Given the description of an element on the screen output the (x, y) to click on. 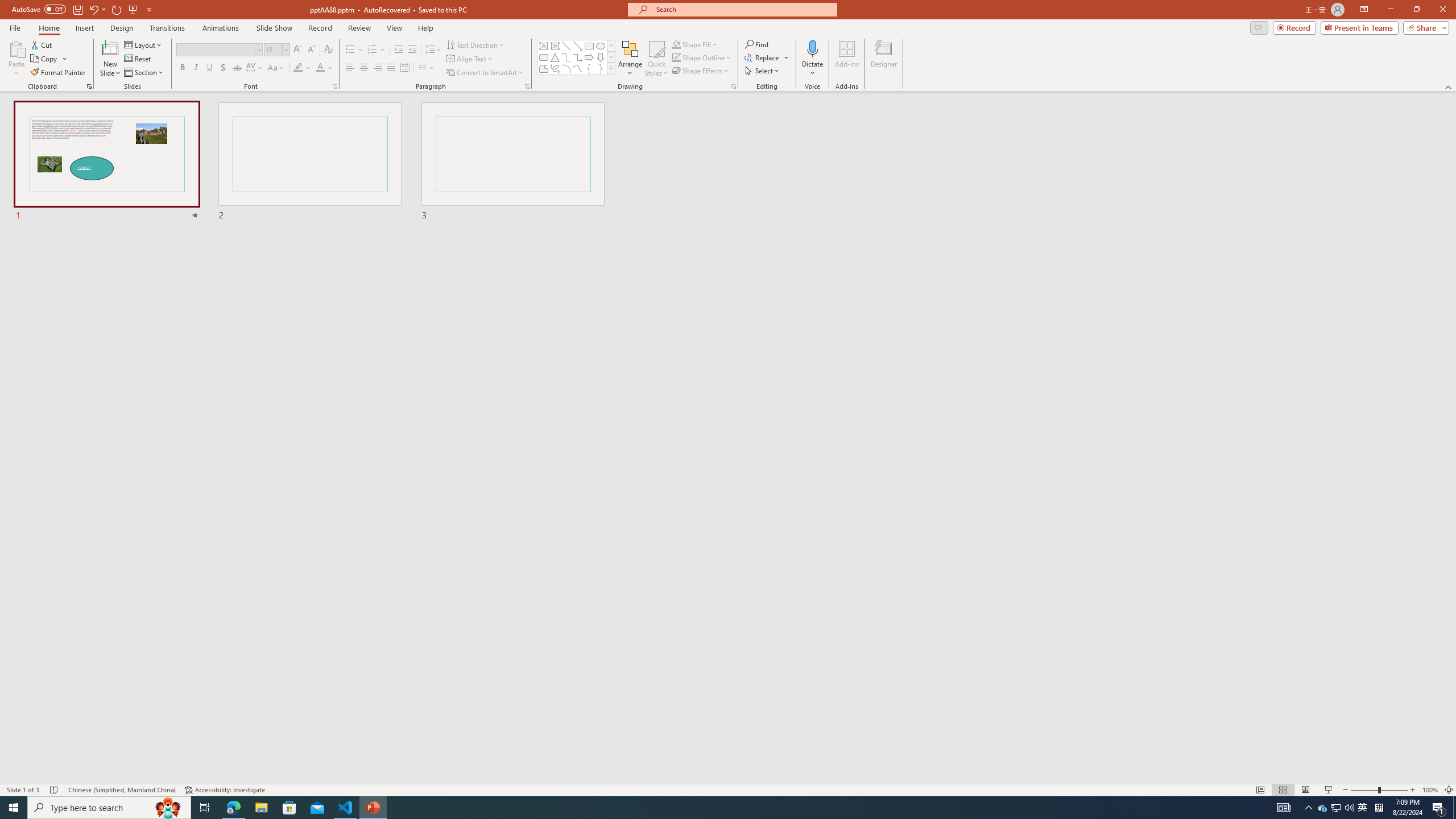
Format Painter (58, 72)
Bold (182, 67)
Arrow: Down (600, 57)
Decrease Indent (398, 49)
Isosceles Triangle (554, 57)
Arrow: Right (589, 57)
Shape Outline (701, 56)
